Given the description of an element on the screen output the (x, y) to click on. 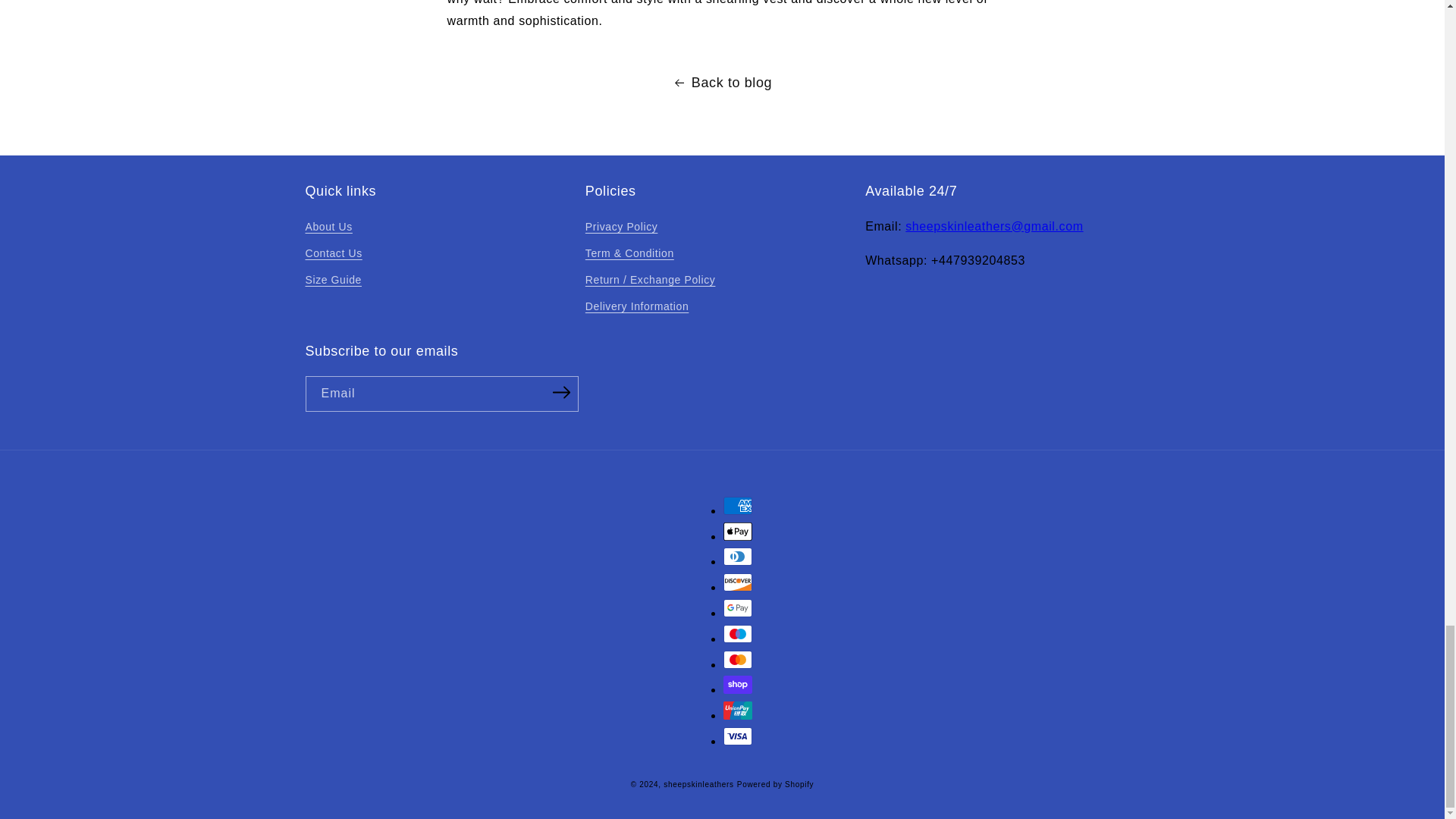
Maestro (737, 633)
Google Pay (737, 607)
Union Pay (737, 710)
Shop Pay (737, 684)
Discover (737, 582)
Apple Pay (737, 531)
American Express (737, 505)
Mastercard (737, 659)
Visa (737, 736)
Diners Club (737, 556)
